Given the description of an element on the screen output the (x, y) to click on. 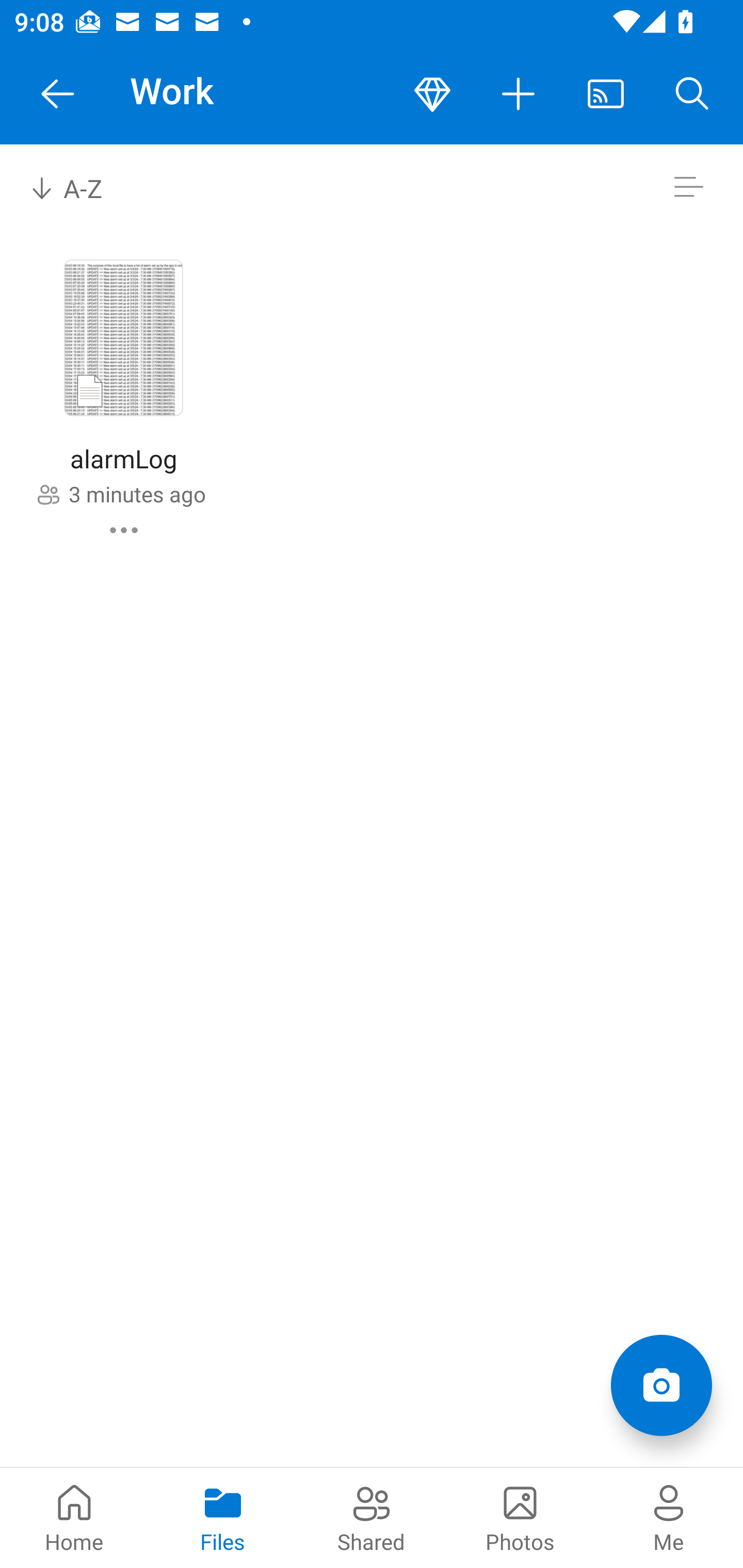
Navigate Up (57, 93)
Cast. Disconnected (605, 93)
Premium button (432, 93)
More actions button (518, 93)
Search button (692, 93)
A-Z Sort by combo box, sort by name, A to Z (80, 187)
Switch to list view (688, 187)
3 minutes ago (136, 493)
alarmLog commands (123, 529)
Add items Scan (660, 1385)
Home pivot Home (74, 1517)
Shared pivot Shared (371, 1517)
Photos pivot Photos (519, 1517)
Me pivot Me (668, 1517)
